Given the description of an element on the screen output the (x, y) to click on. 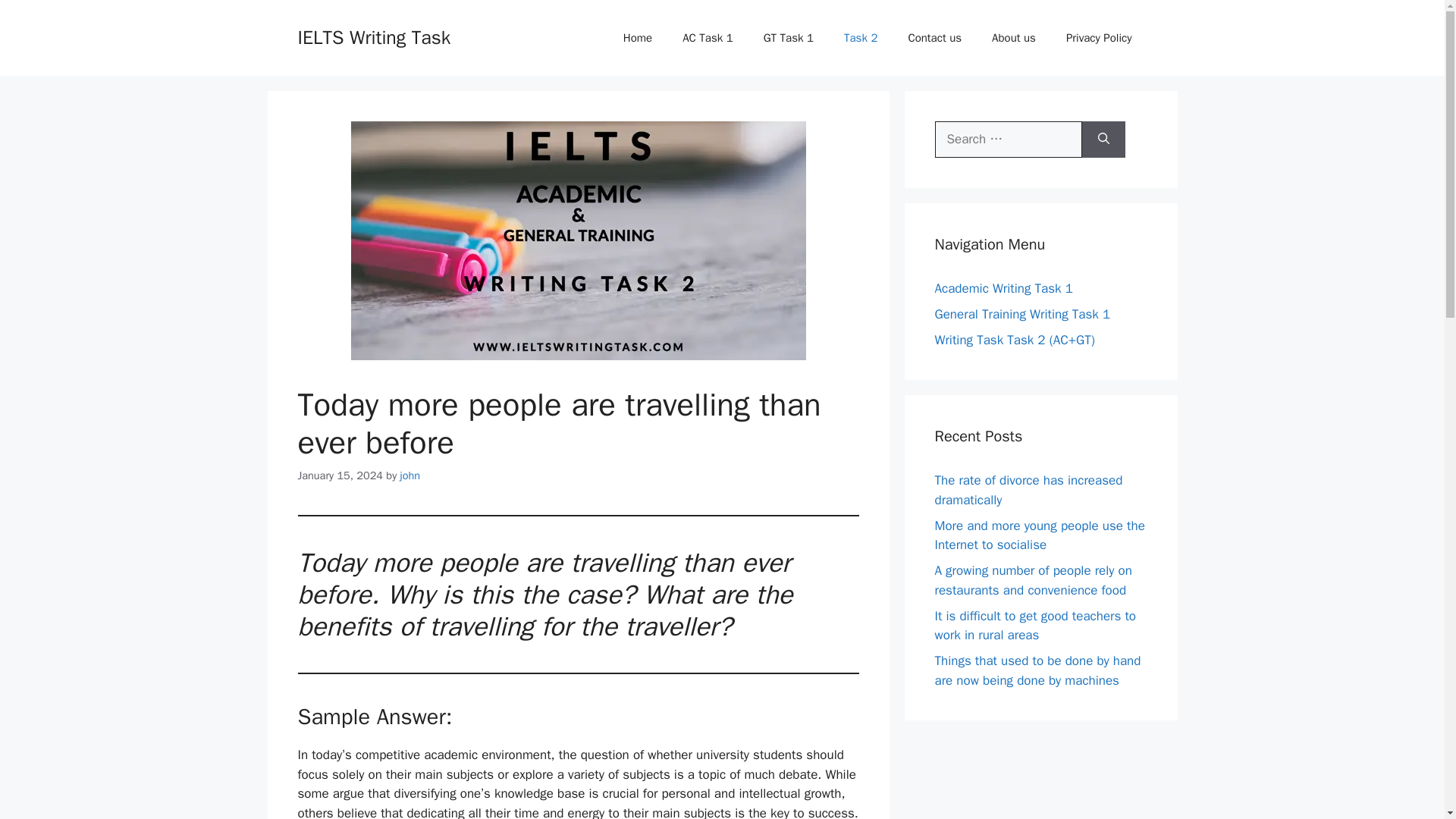
Home (637, 37)
It is difficult to get good teachers to work in rural areas (1034, 625)
More and more young people use the Internet to socialise (1039, 534)
john (410, 475)
About us (1013, 37)
Search for: (1007, 139)
IELTS Writing Task (373, 37)
Task 2 (860, 37)
View all posts by john (410, 475)
Academic Writing Task 1 (1002, 288)
AC Task 1 (707, 37)
Contact us (934, 37)
Privacy Policy (1099, 37)
